Given the description of an element on the screen output the (x, y) to click on. 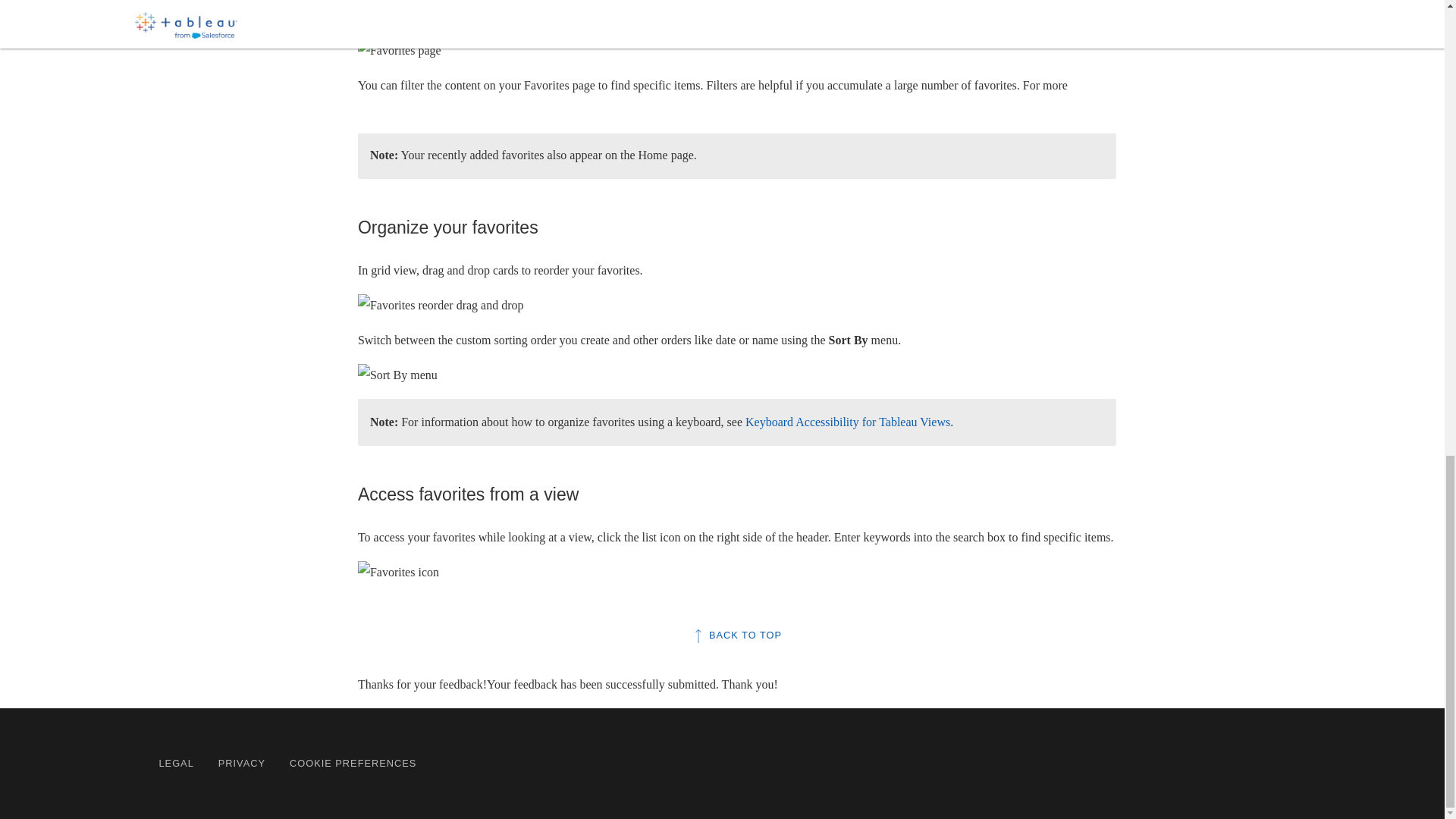
LEGAL (175, 763)
COOKIE PREFERENCES (352, 763)
Keyboard Accessibility for Tableau Views (847, 421)
BACK TO TOP (736, 634)
PRIVACY (241, 763)
Filtered search (475, 107)
